Given the description of an element on the screen output the (x, y) to click on. 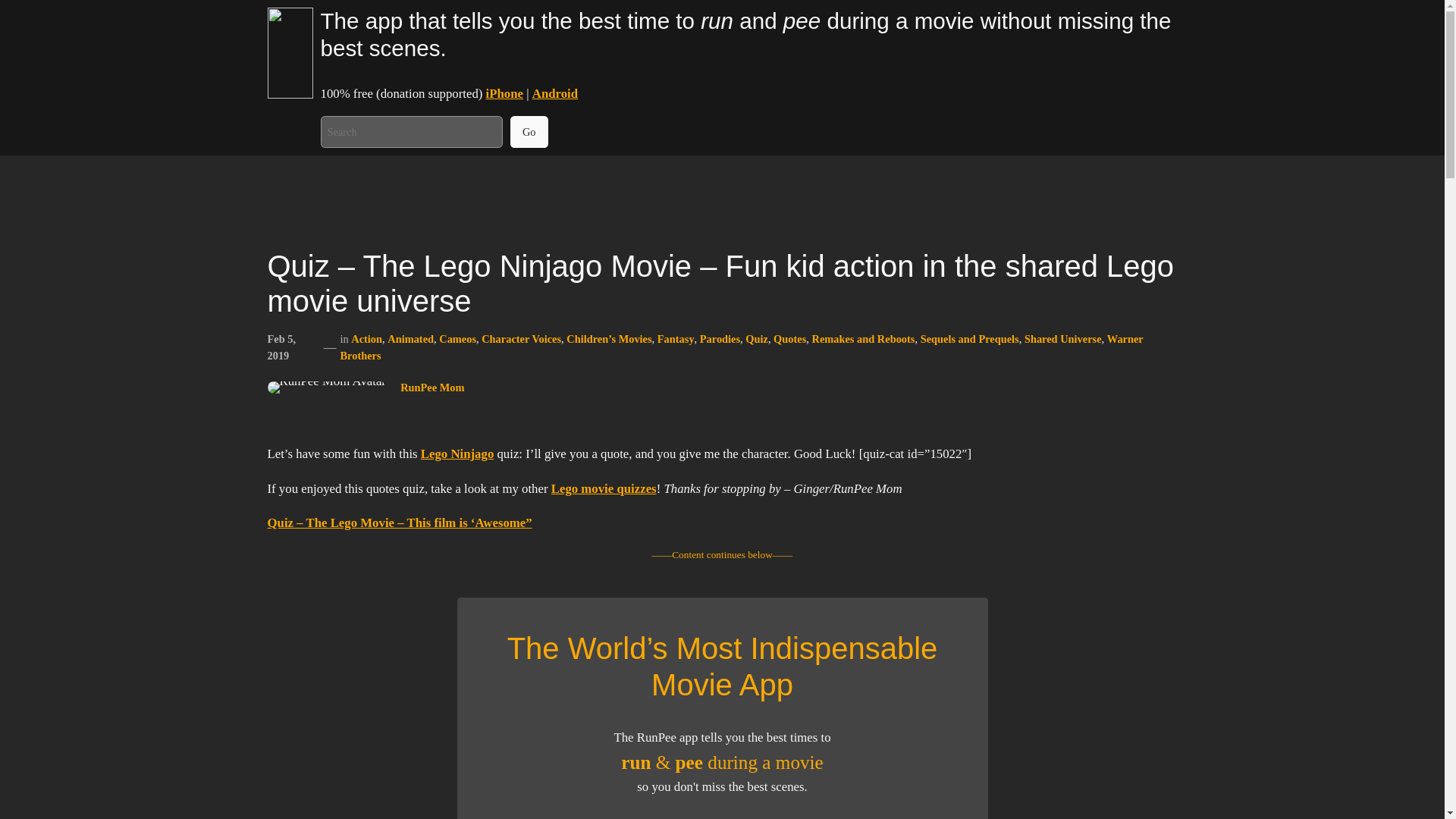
iPhone (504, 93)
Sequels and Prequels (969, 338)
RunPee Mom (432, 387)
Warner Brothers (740, 346)
Remakes and Reboots (862, 338)
Cameos (457, 338)
Fantasy (676, 338)
Lego Ninjago (457, 453)
Parodies (719, 338)
Quiz (756, 338)
Feb 5, 2019 (280, 346)
Android (555, 93)
Quotes (789, 338)
Action (365, 338)
Character Voices (520, 338)
